Given the description of an element on the screen output the (x, y) to click on. 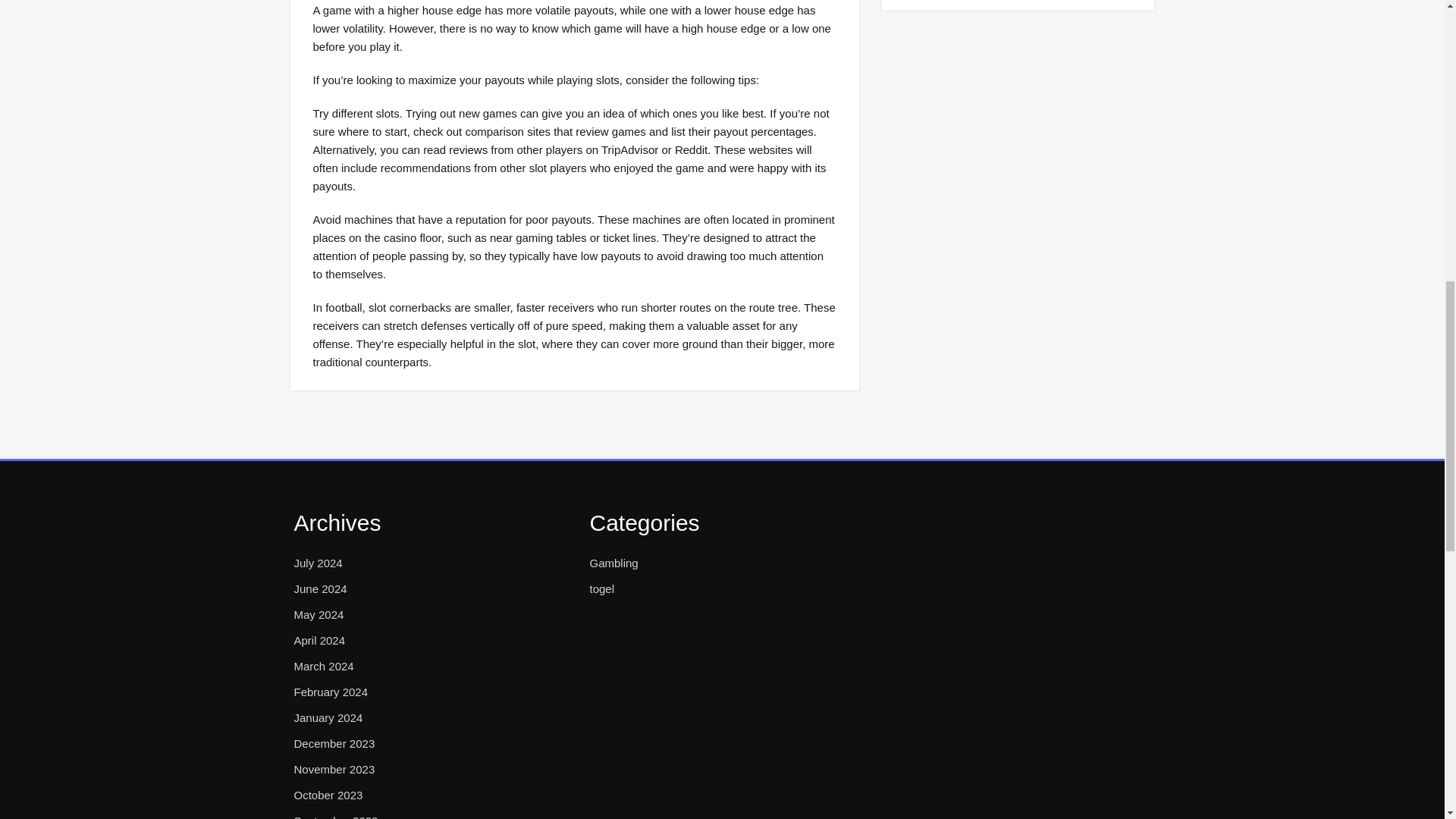
October 2023 (328, 795)
May 2024 (318, 615)
April 2024 (320, 640)
July 2024 (318, 563)
February 2024 (331, 692)
June 2024 (320, 588)
December 2023 (334, 743)
September 2023 (336, 815)
November 2023 (334, 769)
March 2024 (323, 666)
January 2024 (328, 718)
